Given the description of an element on the screen output the (x, y) to click on. 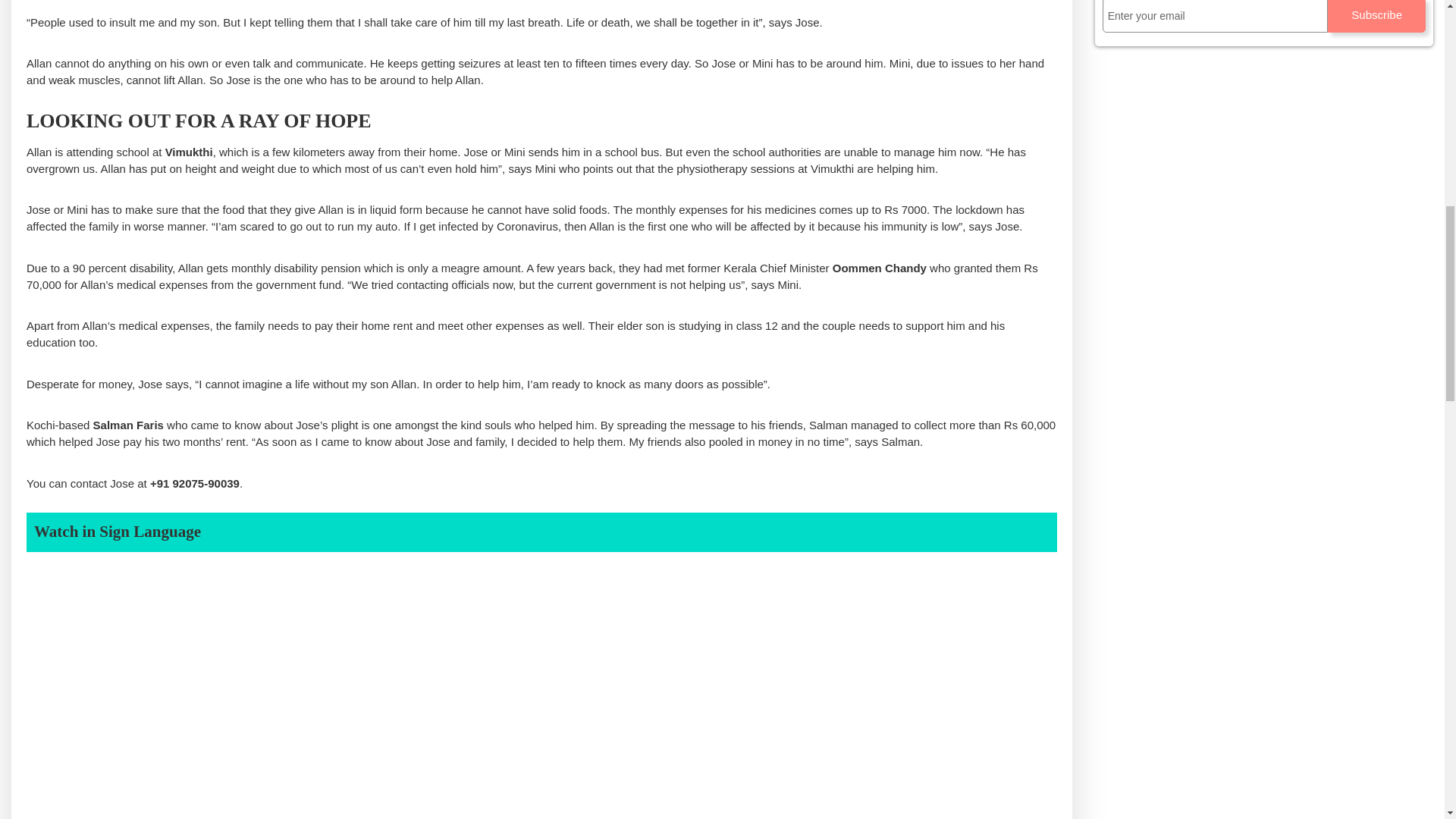
Subscribe (1376, 16)
